Given the description of an element on the screen output the (x, y) to click on. 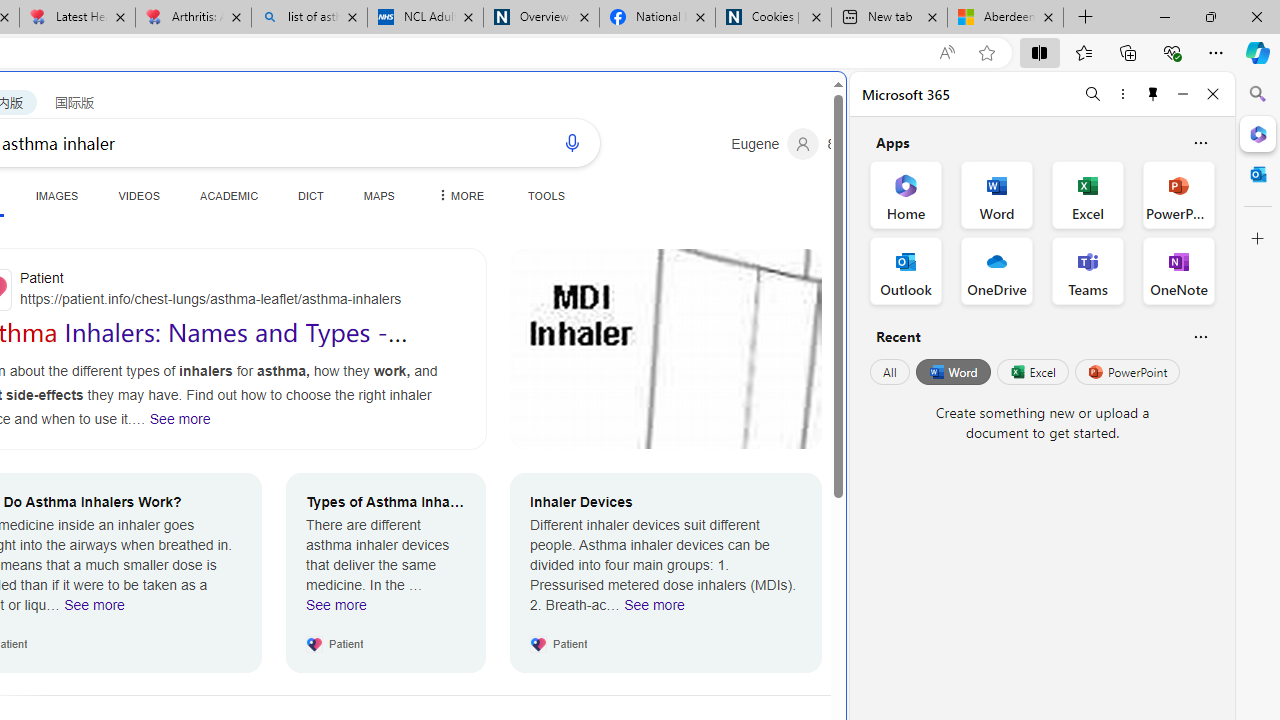
DICT (310, 195)
OneNote Office App (1178, 270)
MORE (458, 195)
Teams Office App (1087, 270)
TOOLS (546, 195)
MAPS (378, 195)
TOOLS (546, 195)
